Given the description of an element on the screen output the (x, y) to click on. 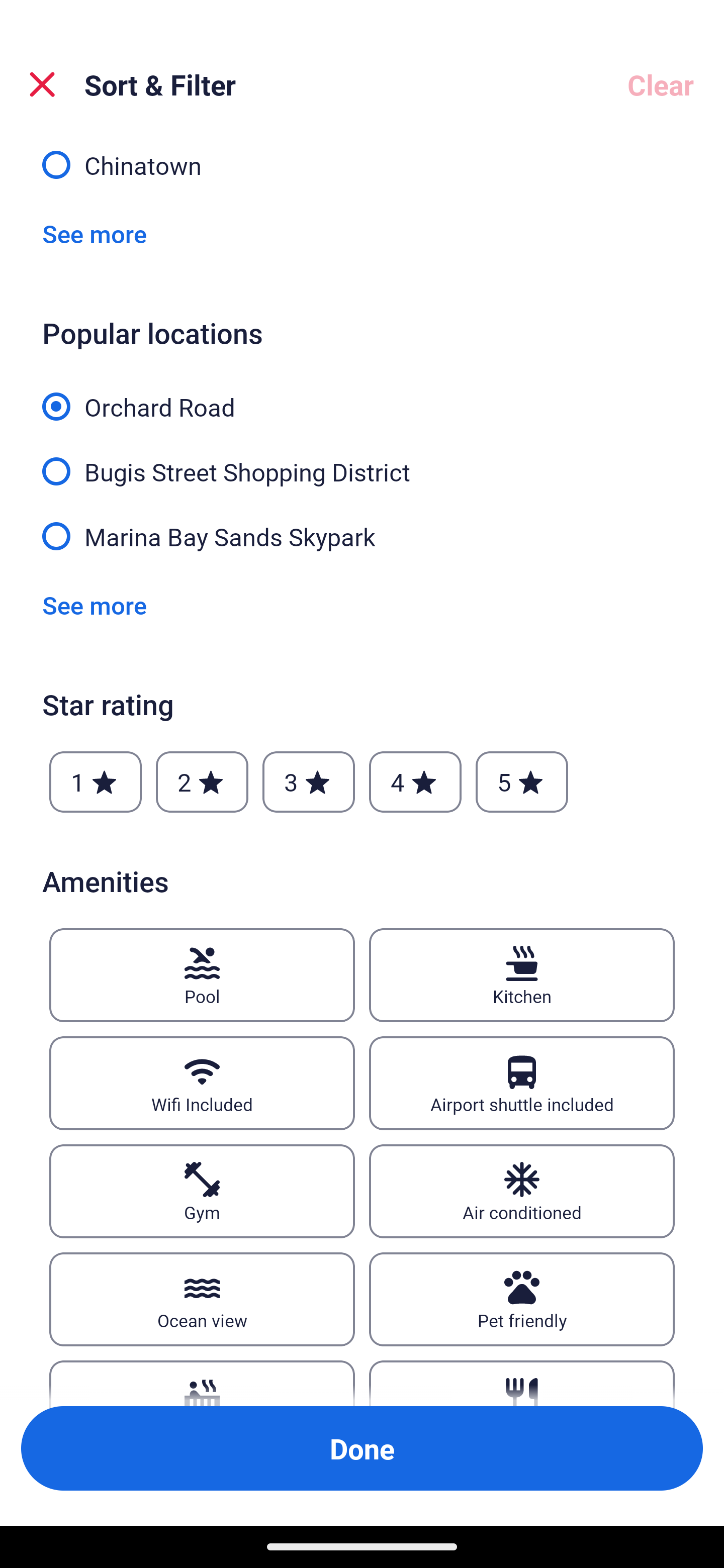
Close Sort and Filter (42, 84)
Clear (660, 84)
Chinatown (361, 166)
See more See more neighborhoods Link (93, 233)
Bugis Street Shopping District (361, 460)
Marina Bay Sands Skypark (361, 534)
See more See more popular locations Link (93, 604)
1 (95, 782)
2 (201, 782)
3 (308, 782)
4 (415, 782)
5 (521, 782)
Pool (201, 975)
Kitchen (521, 975)
Wifi Included (201, 1083)
Airport shuttle included (521, 1083)
Gym (201, 1191)
Air conditioned (521, 1191)
Ocean view (201, 1299)
Pet friendly (521, 1299)
Apply and close Sort and Filter Done (361, 1448)
